Given the description of an element on the screen output the (x, y) to click on. 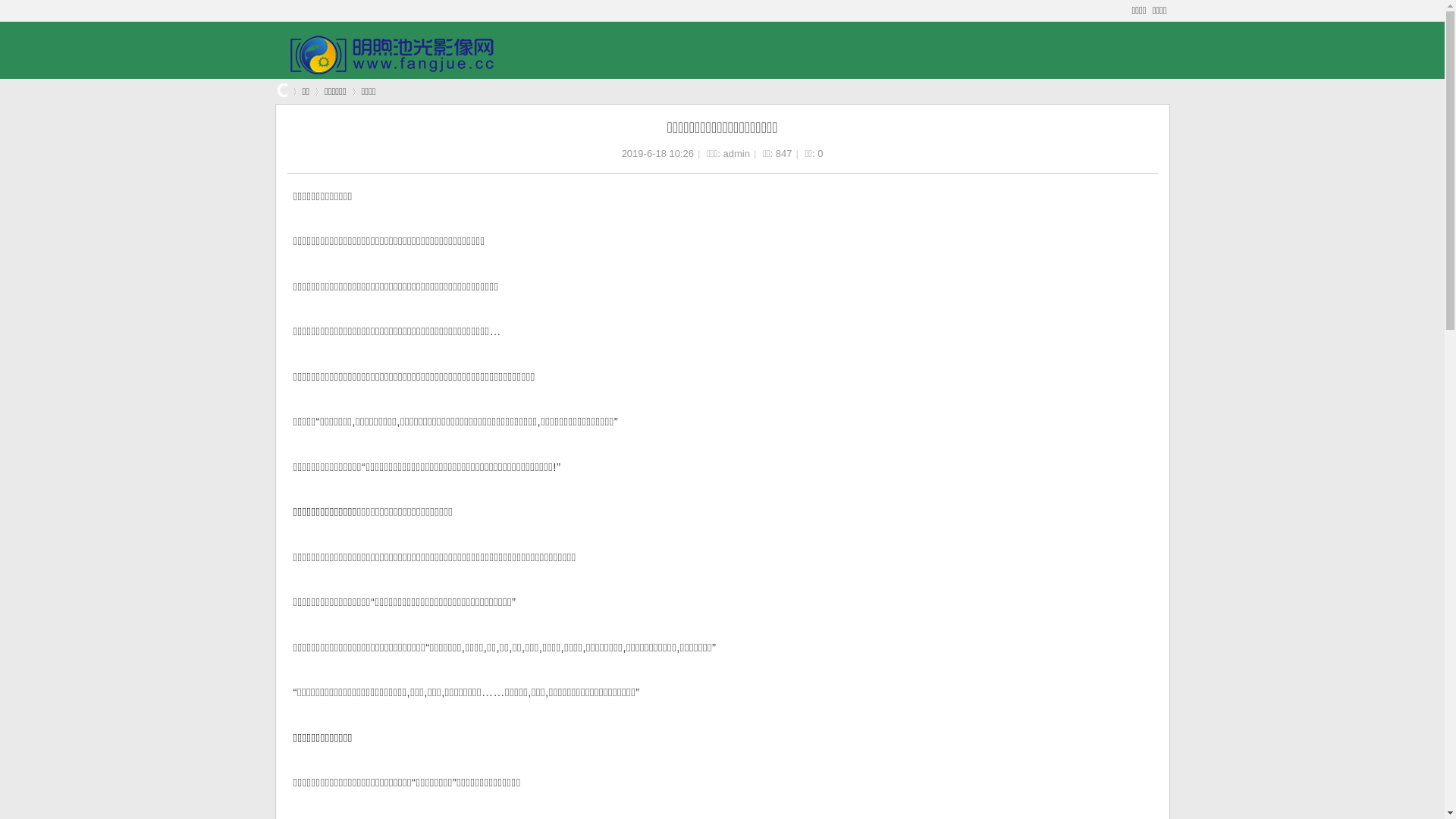
admin Element type: text (736, 153)
